Given the description of an element on the screen output the (x, y) to click on. 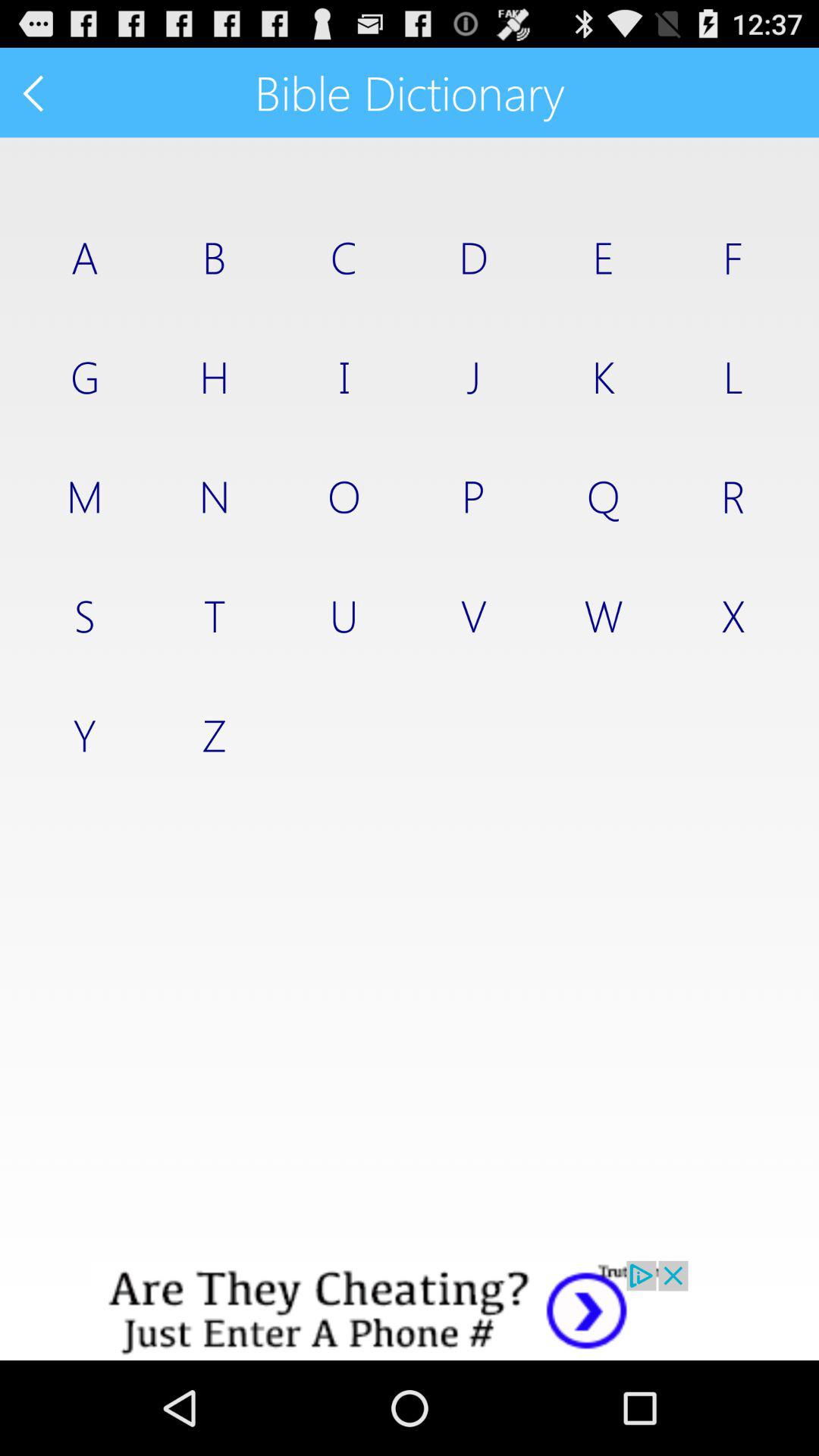
back (34, 92)
